Given the description of an element on the screen output the (x, y) to click on. 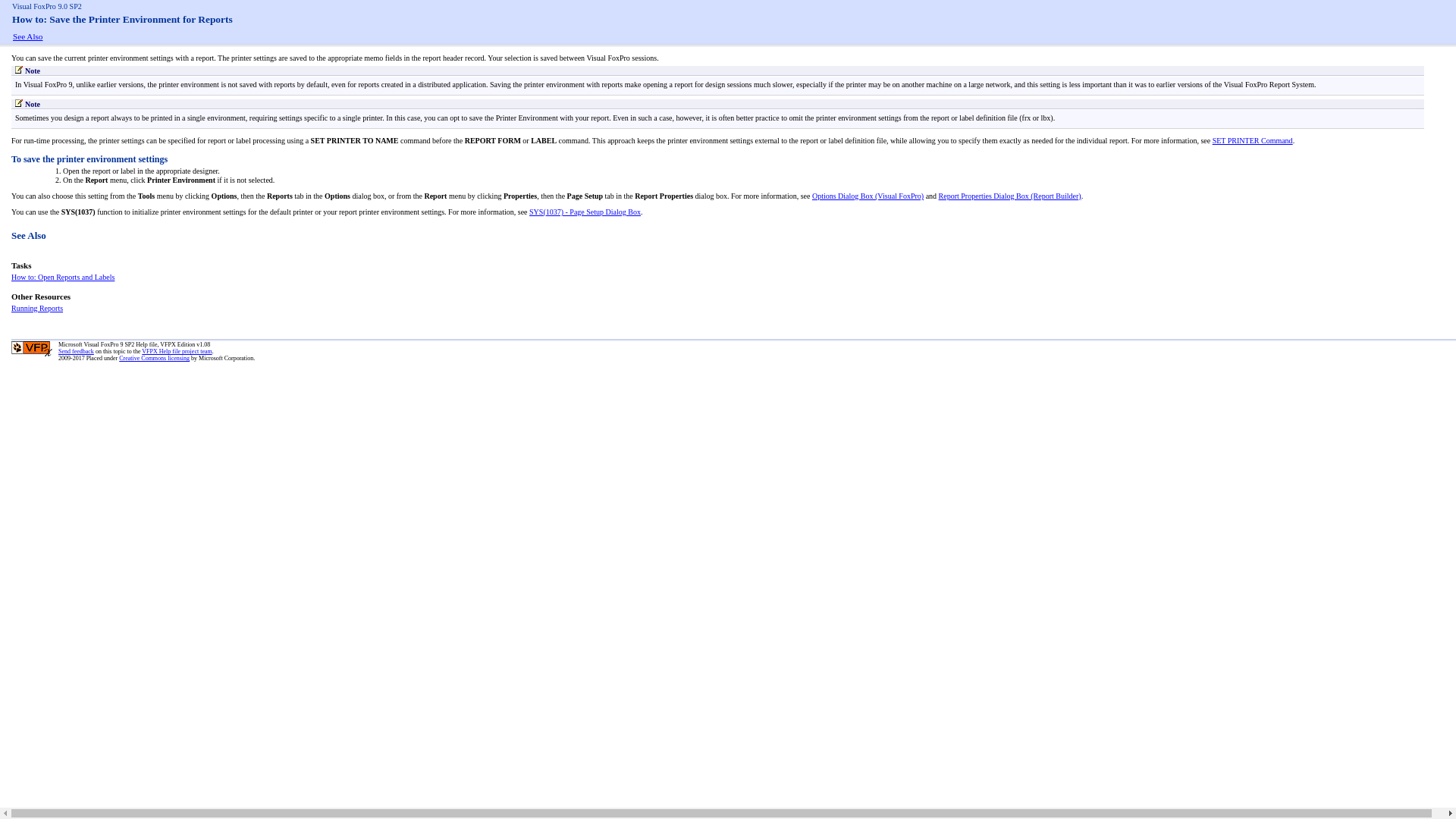
VFPX Help file project team (176, 351)
Creative Commons licensing (154, 357)
Running Reports (36, 307)
See Also (27, 35)
SET PRINTER Command (1252, 140)
Send feedback (76, 351)
How to: Open Reports and Labels (63, 276)
